Given the description of an element on the screen output the (x, y) to click on. 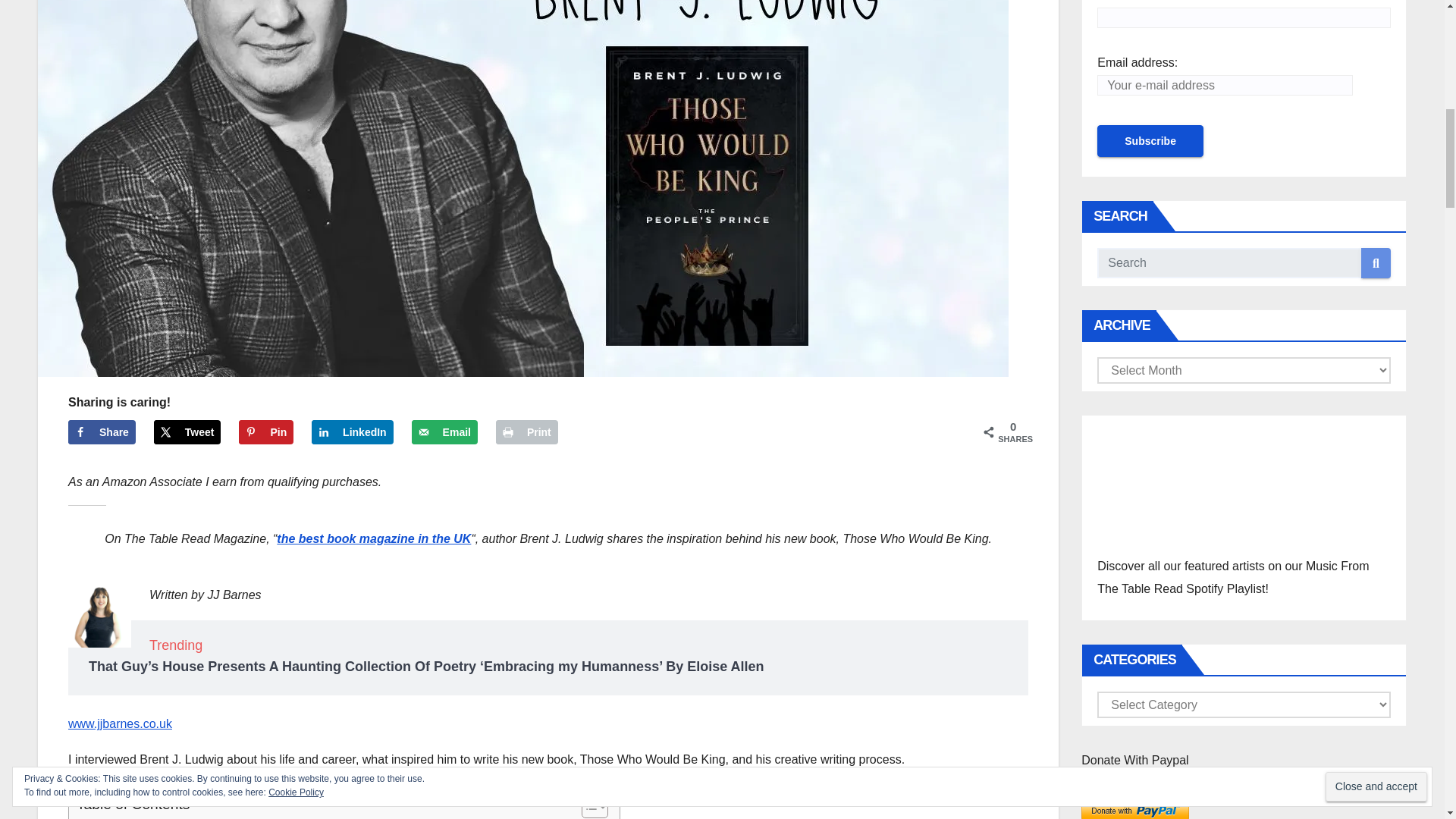
Subscribe (1150, 141)
Tweet (187, 432)
LinkedIn (352, 432)
Pin (266, 432)
Share (101, 432)
